Given the description of an element on the screen output the (x, y) to click on. 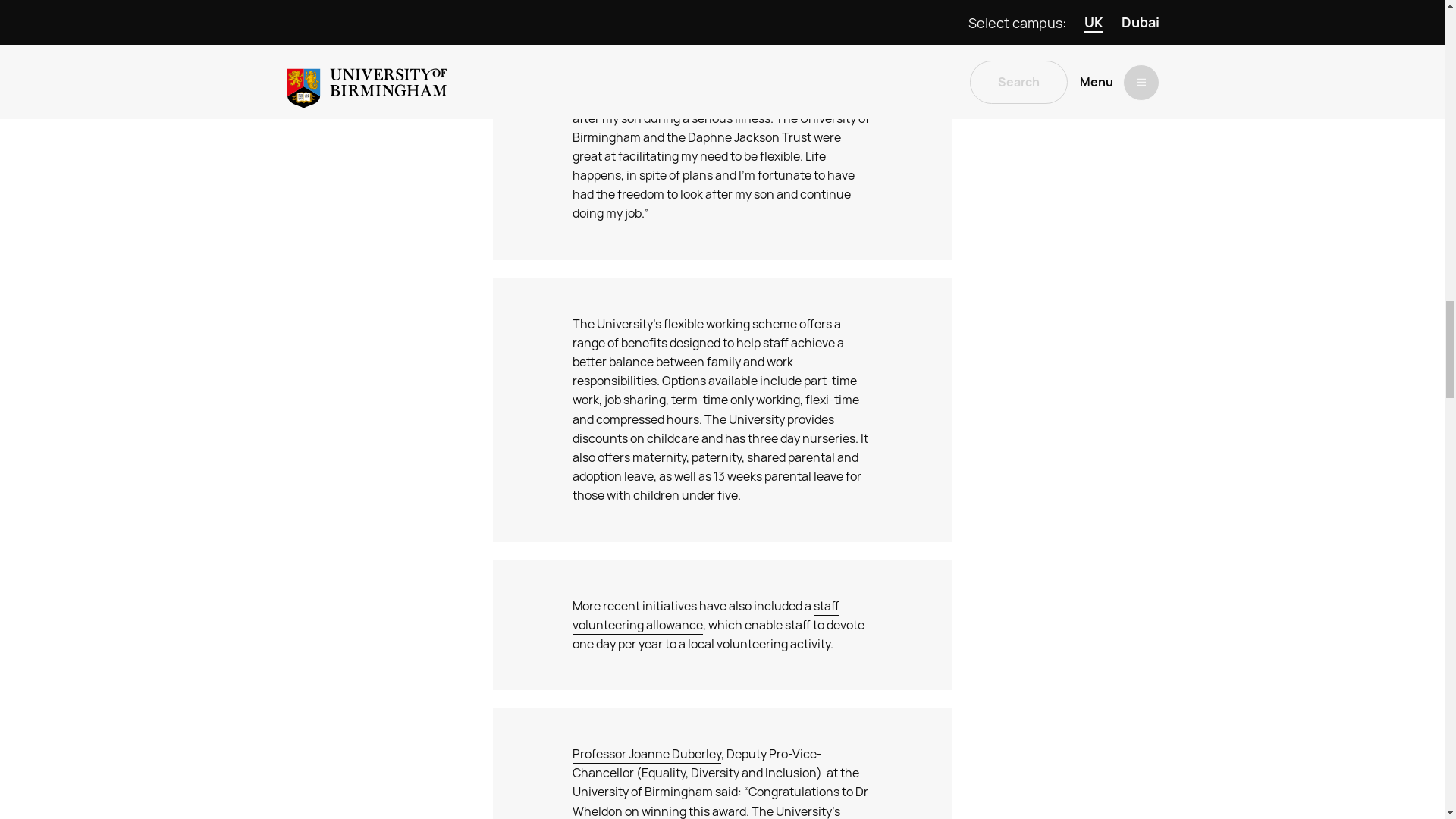
staff volunteering allowance (706, 615)
Positron Imaging Centre, (711, 32)
Professor Joanne Duberley (646, 754)
